Given the description of an element on the screen output the (x, y) to click on. 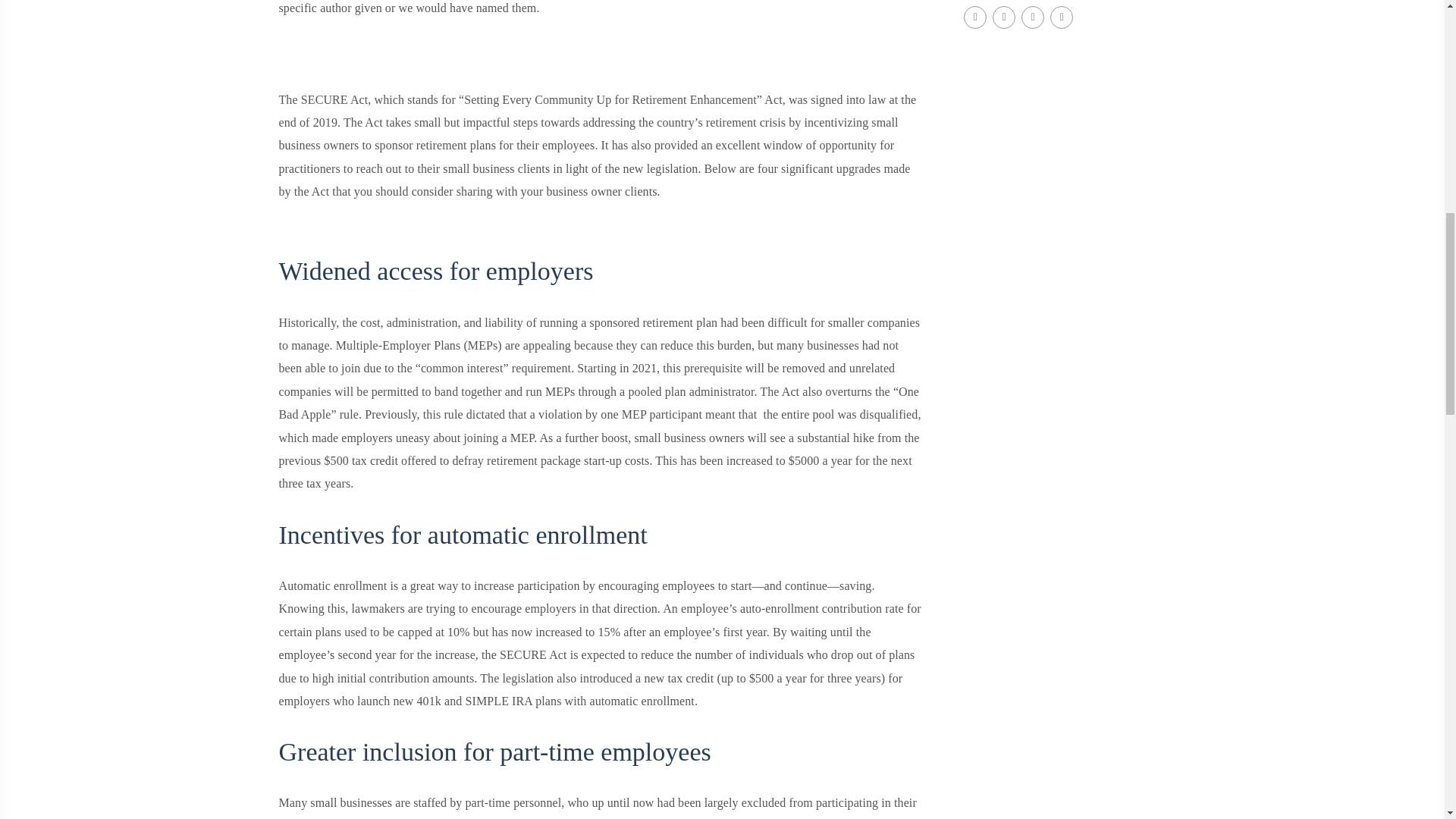
Follow on Twitter (1061, 16)
Follow on Facebook (975, 16)
Follow on LinkedIn (1032, 16)
Follow on Instagram (1003, 16)
